Given the description of an element on the screen output the (x, y) to click on. 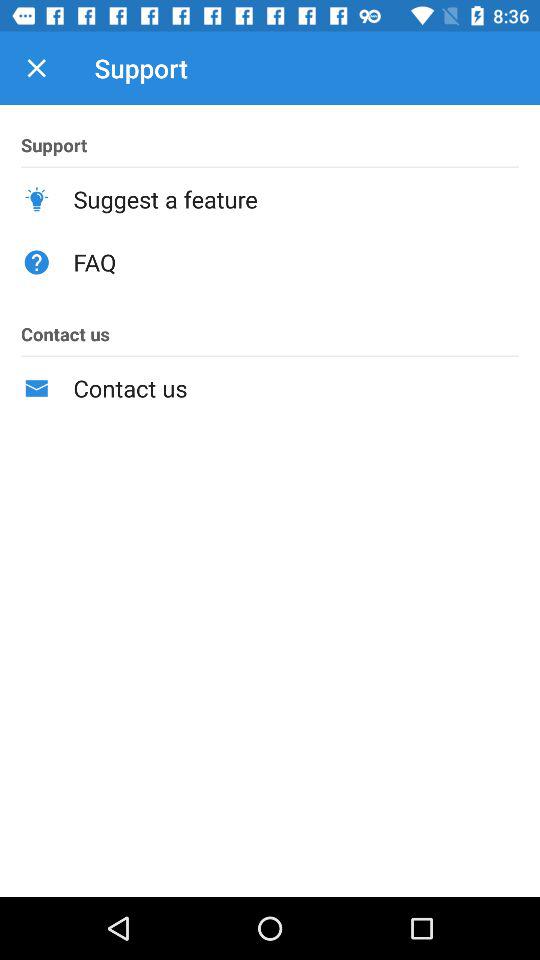
turn off icon above faq (296, 199)
